Given the description of an element on the screen output the (x, y) to click on. 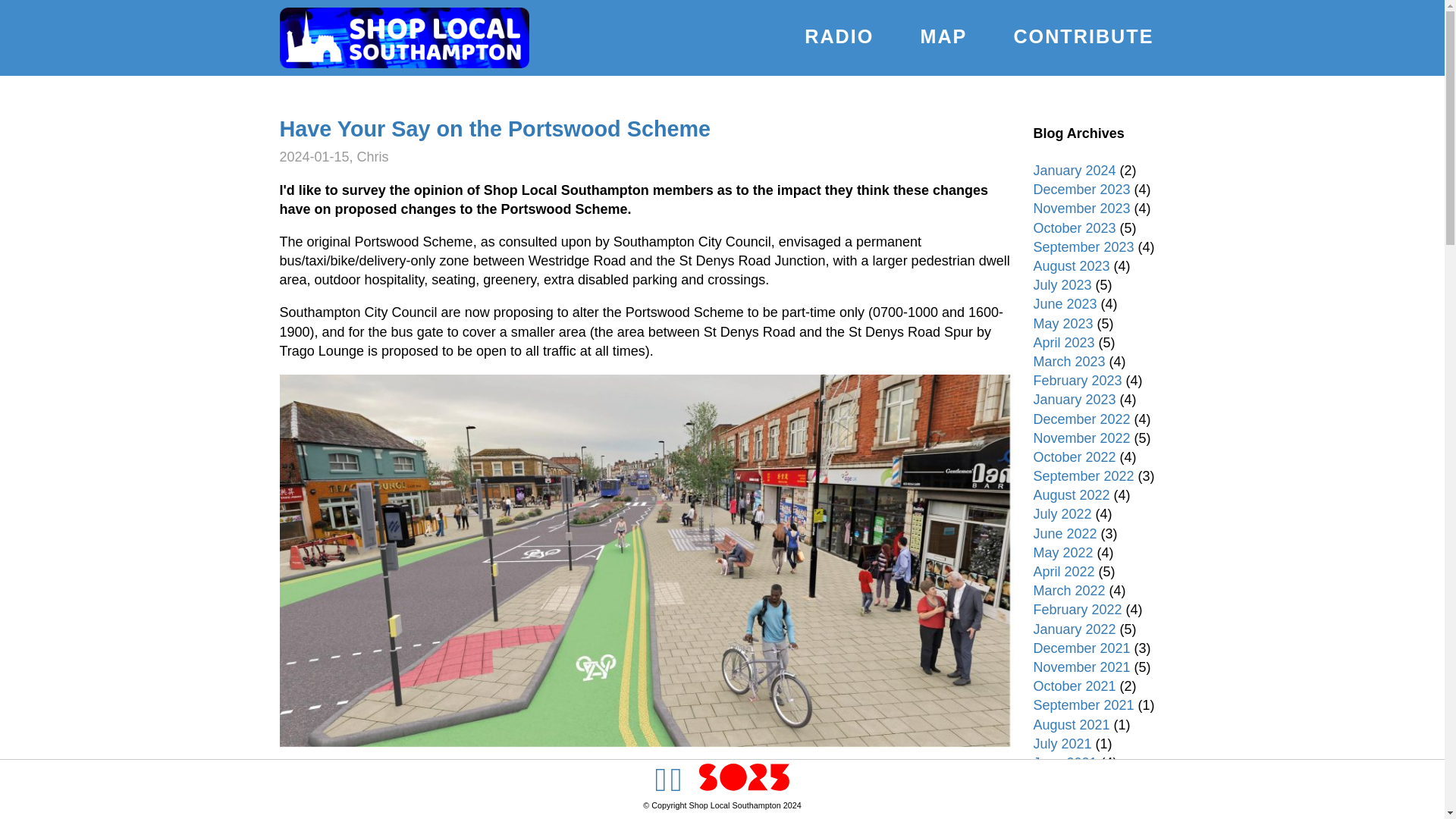
RADIO (838, 36)
February 2022 (1076, 609)
July 2023 (1061, 284)
September 2021 (1083, 704)
November 2023 (1080, 208)
August 2023 (1070, 265)
December 2023 (1080, 189)
MAP (943, 36)
June 2021 (1064, 762)
March 2023 (1068, 361)
April 2022 (1063, 571)
January 2023 (1073, 399)
September 2022 (1083, 476)
August 2022 (1070, 494)
July 2022 (1061, 513)
